Given the description of an element on the screen output the (x, y) to click on. 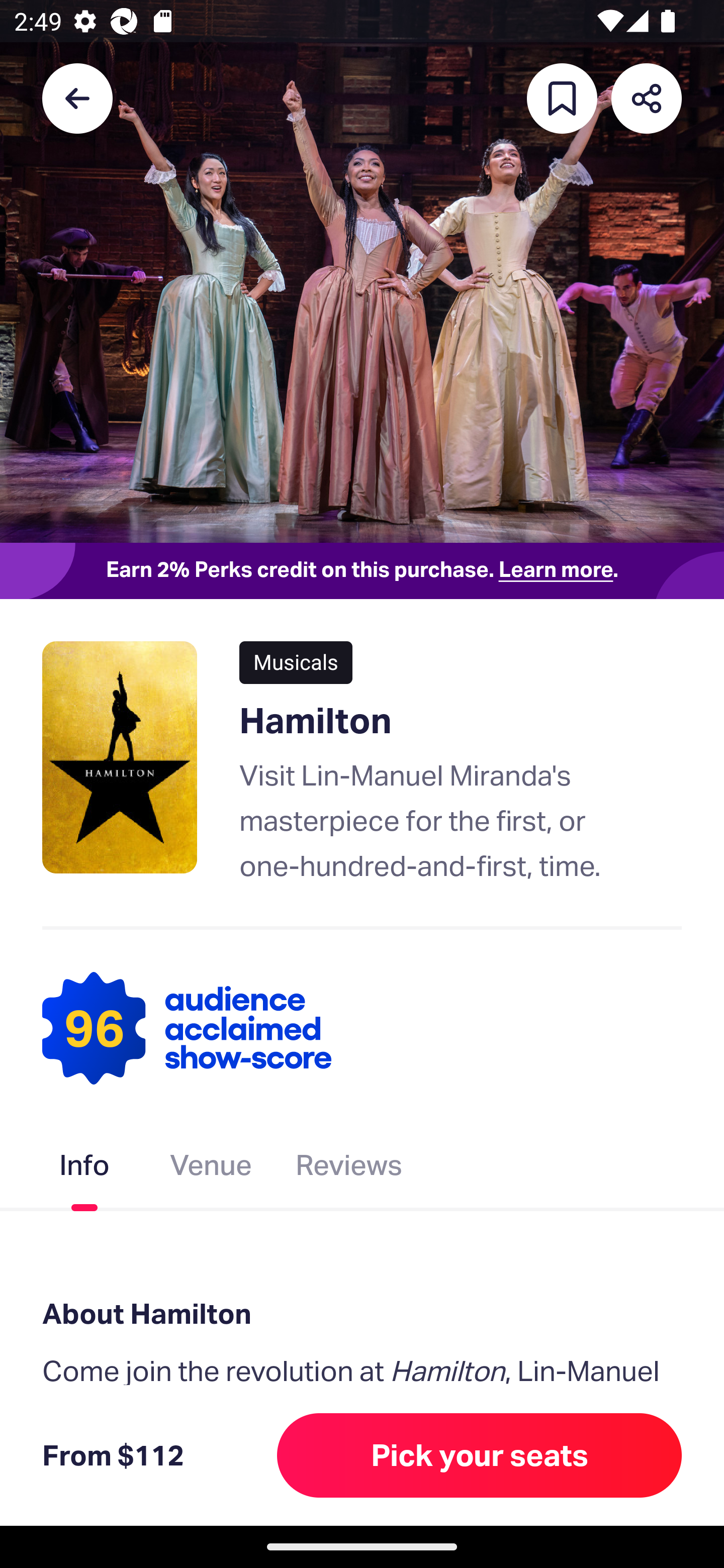
Earn 2% Perks credit on this purchase. Learn more. (362, 570)
Venue (210, 1168)
Reviews (348, 1168)
About Hamilton (361, 1313)
Pick your seats (479, 1454)
